Given the description of an element on the screen output the (x, y) to click on. 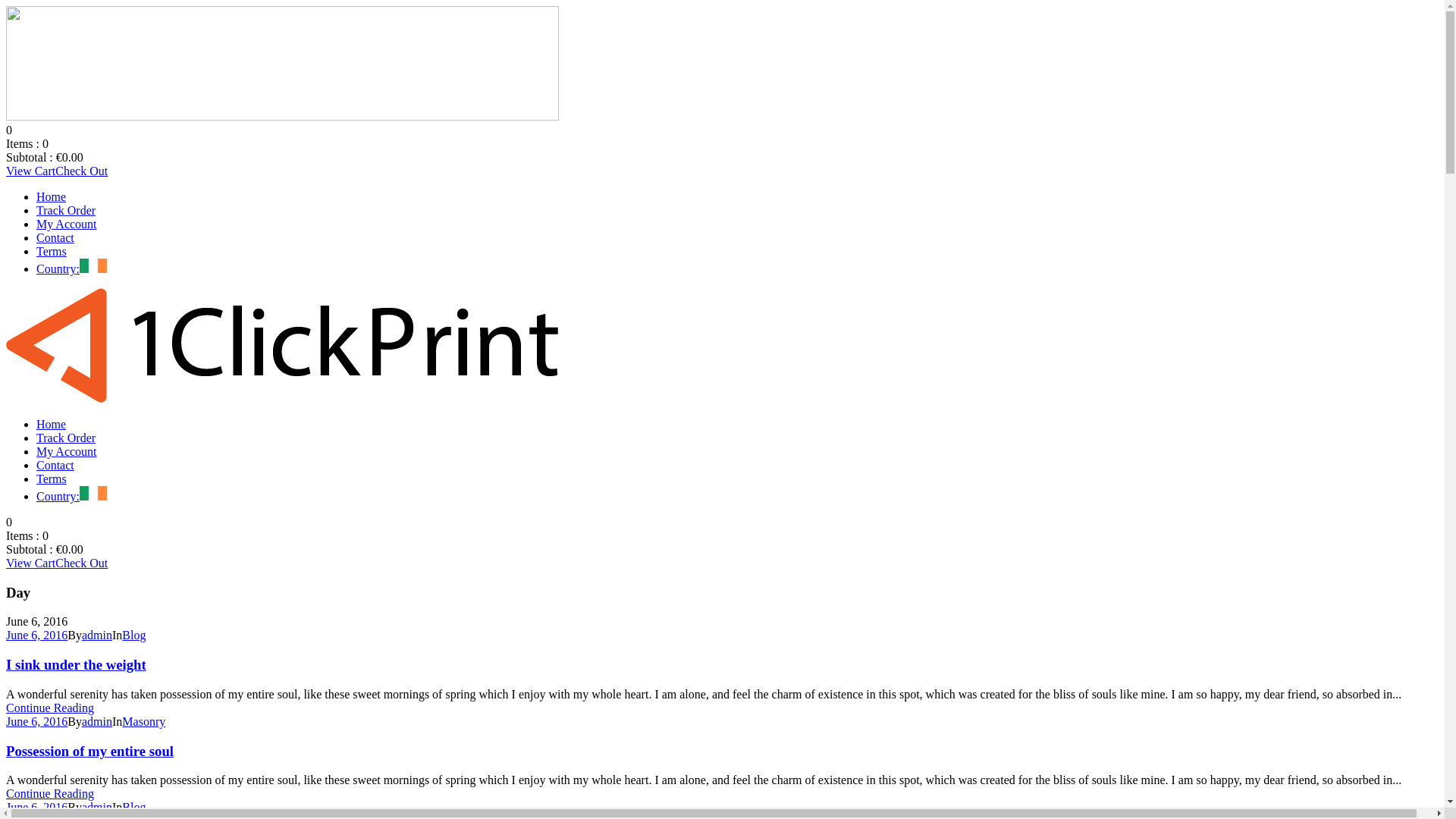
Home Element type: text (50, 423)
My Account Element type: text (66, 451)
Continue Reading Element type: text (50, 707)
Home Element type: text (50, 196)
admin Element type: text (96, 806)
Track Order Element type: text (65, 209)
June 6, 2016 Element type: text (36, 806)
Check Out Element type: text (81, 562)
Track Order Element type: text (65, 437)
Check Out Element type: text (81, 170)
Contact Element type: text (55, 464)
June 6, 2016 Element type: text (36, 634)
1ClickPrint Logo Element type: hover (282, 63)
Country: Element type: text (71, 495)
Blog Element type: text (133, 634)
My Account Element type: text (66, 223)
1ClickPrint Logo Element type: hover (282, 345)
View Cart Element type: text (30, 170)
Continue Reading Element type: text (50, 793)
Contact Element type: text (55, 237)
Blog Element type: text (133, 806)
Country: Element type: text (71, 268)
admin Element type: text (96, 634)
Masonry Element type: text (143, 721)
admin Element type: text (96, 721)
Terms Element type: text (51, 478)
I sink under the weight Element type: text (76, 664)
Terms Element type: text (51, 250)
View Cart Element type: text (30, 562)
Possession of my entire soul Element type: text (89, 751)
June 6, 2016 Element type: text (36, 721)
